Given the description of an element on the screen output the (x, y) to click on. 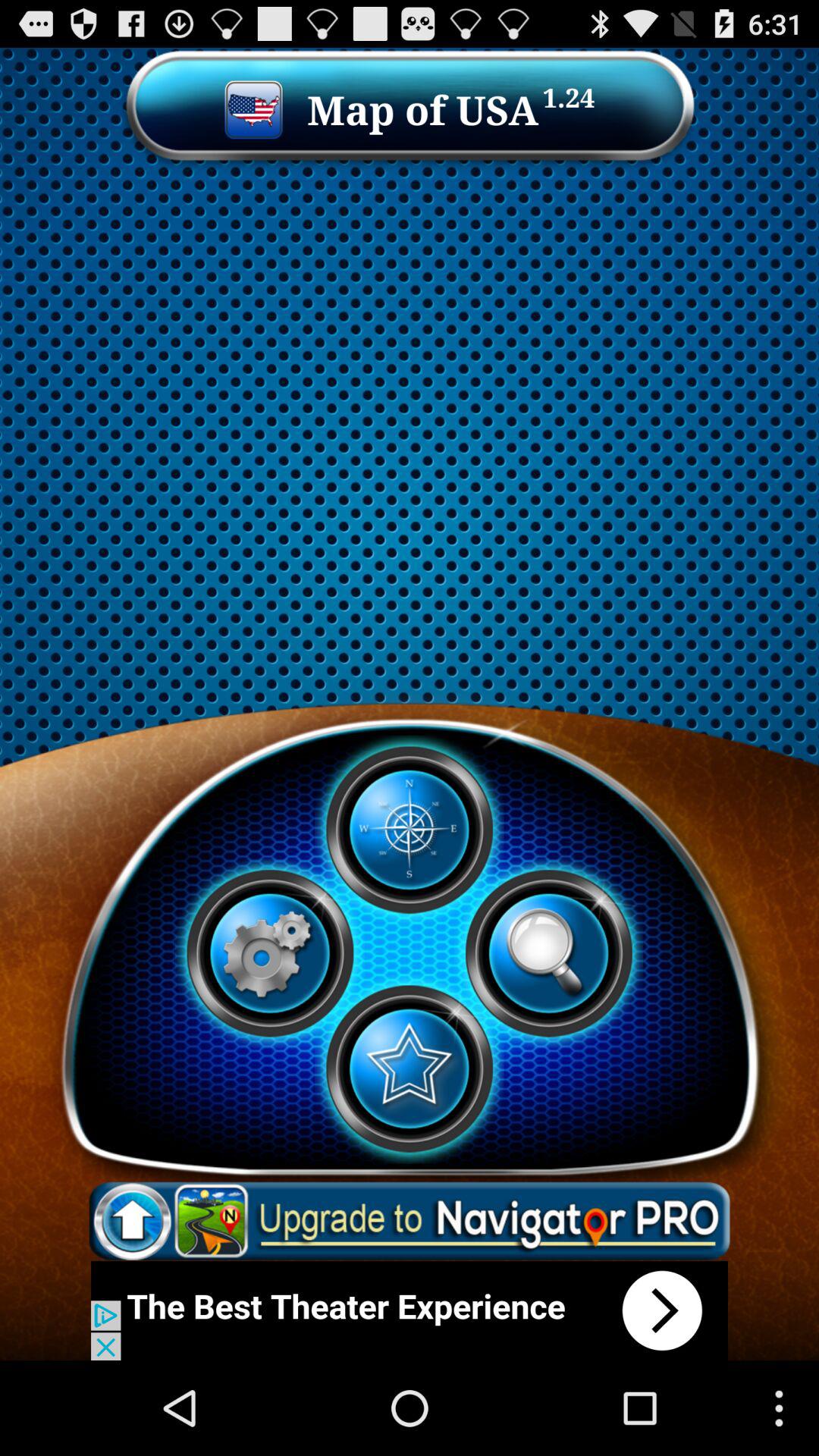
settings option (269, 953)
